Given the description of an element on the screen output the (x, y) to click on. 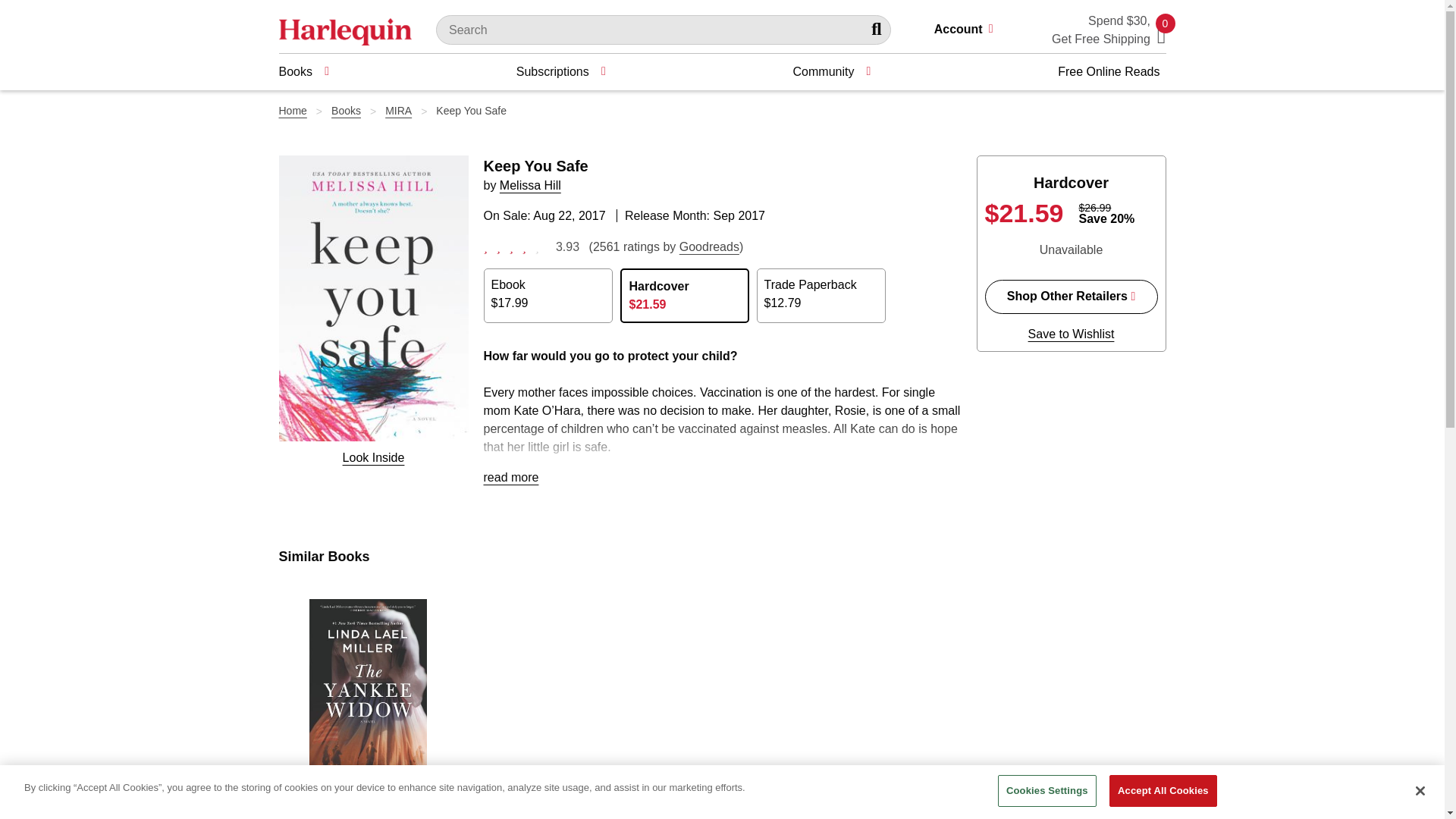
See all reviews on Goodreads (709, 246)
Books (304, 72)
Harlequin home (345, 30)
See ratings and reviews (515, 245)
Account (970, 30)
Search for other content by Melissa Hill (529, 185)
Search for other content by Linda Lael Miller (374, 809)
